Given the description of an element on the screen output the (x, y) to click on. 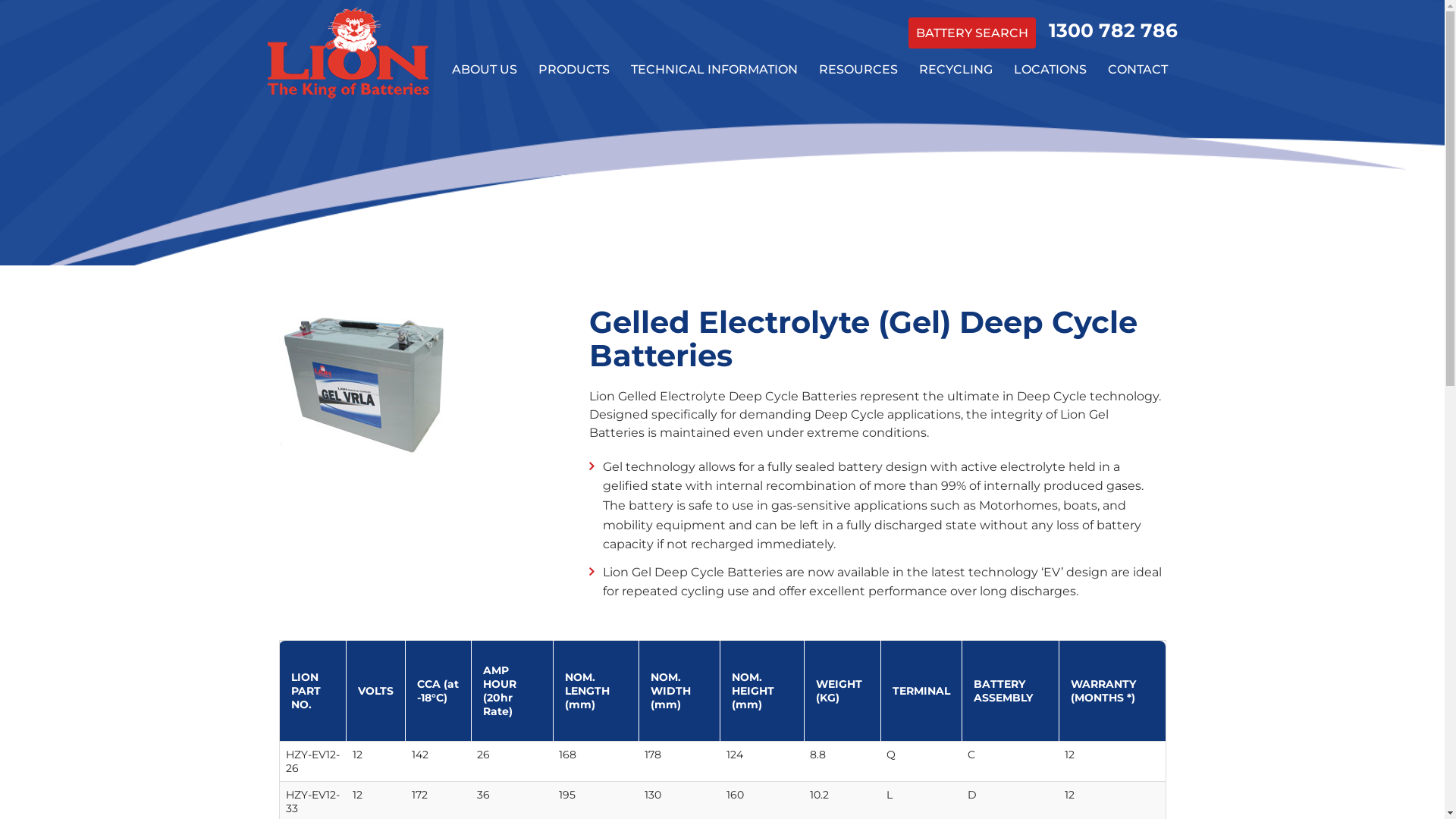
SOUTH AUSTRALIA Element type: text (1050, 214)
JUMP STARTING Element type: text (857, 214)
LION STANDBY Element type: text (483, 145)
AGM AND GEL BATTERIES Element type: text (572, 214)
ABOUT US Element type: text (483, 69)
TERMS AND CONDITIONS Element type: text (857, 145)
HEALTH & SAFETY Element type: text (857, 180)
RESOURCES Element type: text (857, 69)
BATTERY SEARCH Element type: text (971, 32)
RECYCLING Element type: text (954, 69)
LION MOTIVE POWER Element type: text (483, 111)
MARINE BATTERIES Element type: text (572, 145)
PRODUCTS Element type: text (572, 69)
VICTORIA/TASMANIA Element type: text (1050, 180)
NEW SOUTH WALES Element type: text (1050, 111)
DEEP CYCLE BATTERIES Element type: text (572, 180)
CONTACT Element type: text (1137, 69)
TECHNICAL BULLETINS Element type: text (713, 145)
LITHIUM IRON PHOSPHATE BATTERIES Element type: text (572, 248)
TECHNICAL INFORMATION Element type: text (713, 69)
QUEENSLAND Element type: text (1050, 145)
PRODUCT CATALOGUES Element type: text (857, 111)
BATTERY CHARGING Element type: text (713, 214)
1300 782 786 Element type: text (1112, 29)
MATERIAL SAFETY DATA SHEETS Element type: text (713, 180)
FORKLIFT BATTERIES Element type: text (572, 316)
BATTERY FITTING Element type: text (857, 248)
WESTERN AUSTRALIA Element type: text (1050, 248)
SOLAR BATTERIES Element type: text (572, 350)
LOCATIONS Element type: text (1050, 69)
ALL ABOUT BATTERIES Element type: text (713, 111)
STANDBY BATTERIES Element type: text (572, 384)
AUTOMOTIVE BATTERIES Element type: text (572, 111)
TRACTION BATTERIES Element type: text (572, 282)
